Given the description of an element on the screen output the (x, y) to click on. 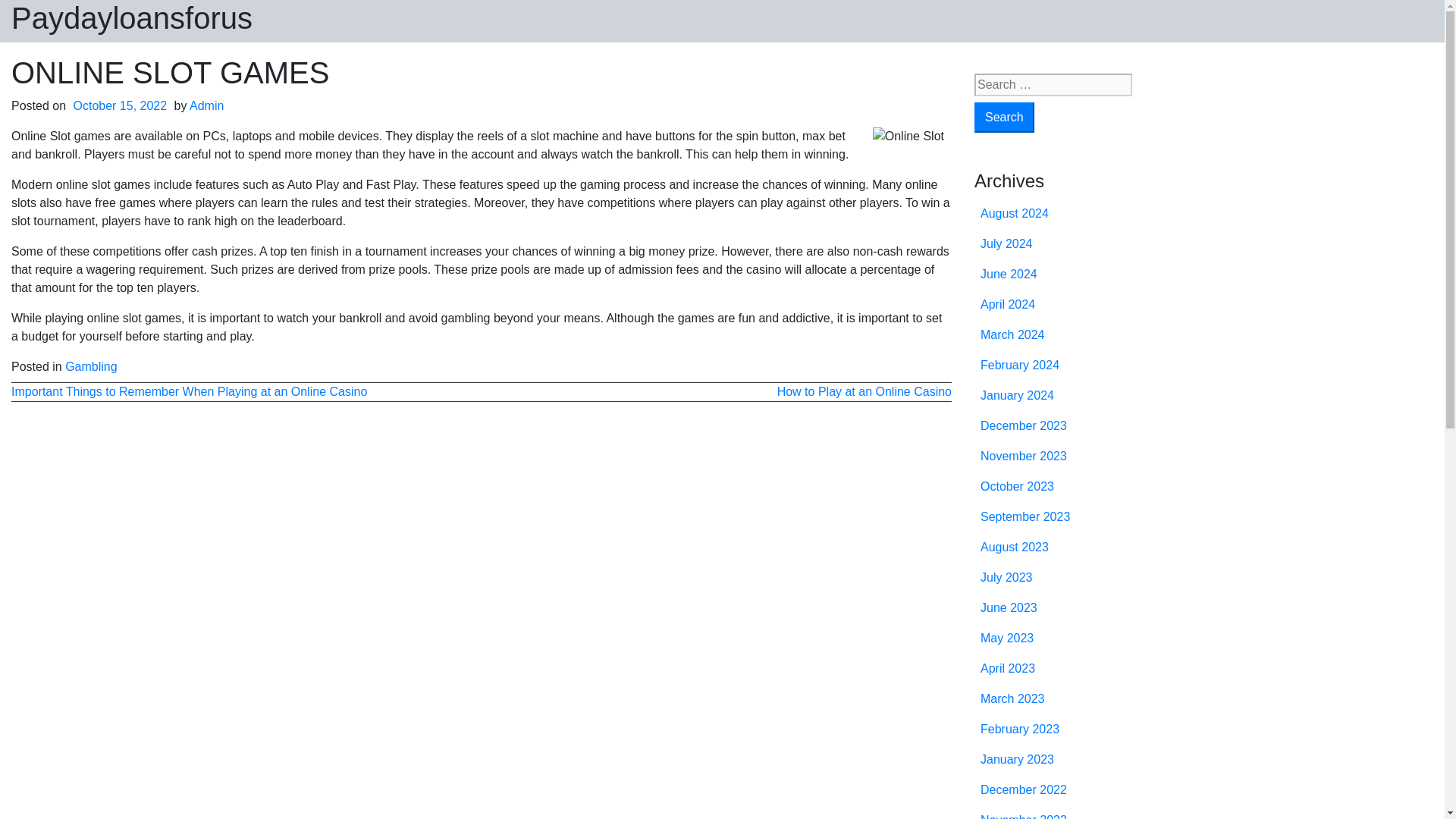
March 2023 (1012, 698)
Search (1003, 117)
August 2024 (1013, 213)
Admin (206, 105)
Search (1003, 117)
April 2023 (1007, 667)
February 2023 (1019, 728)
Search (1003, 117)
How to Play at an Online Casino (864, 391)
